Given the description of an element on the screen output the (x, y) to click on. 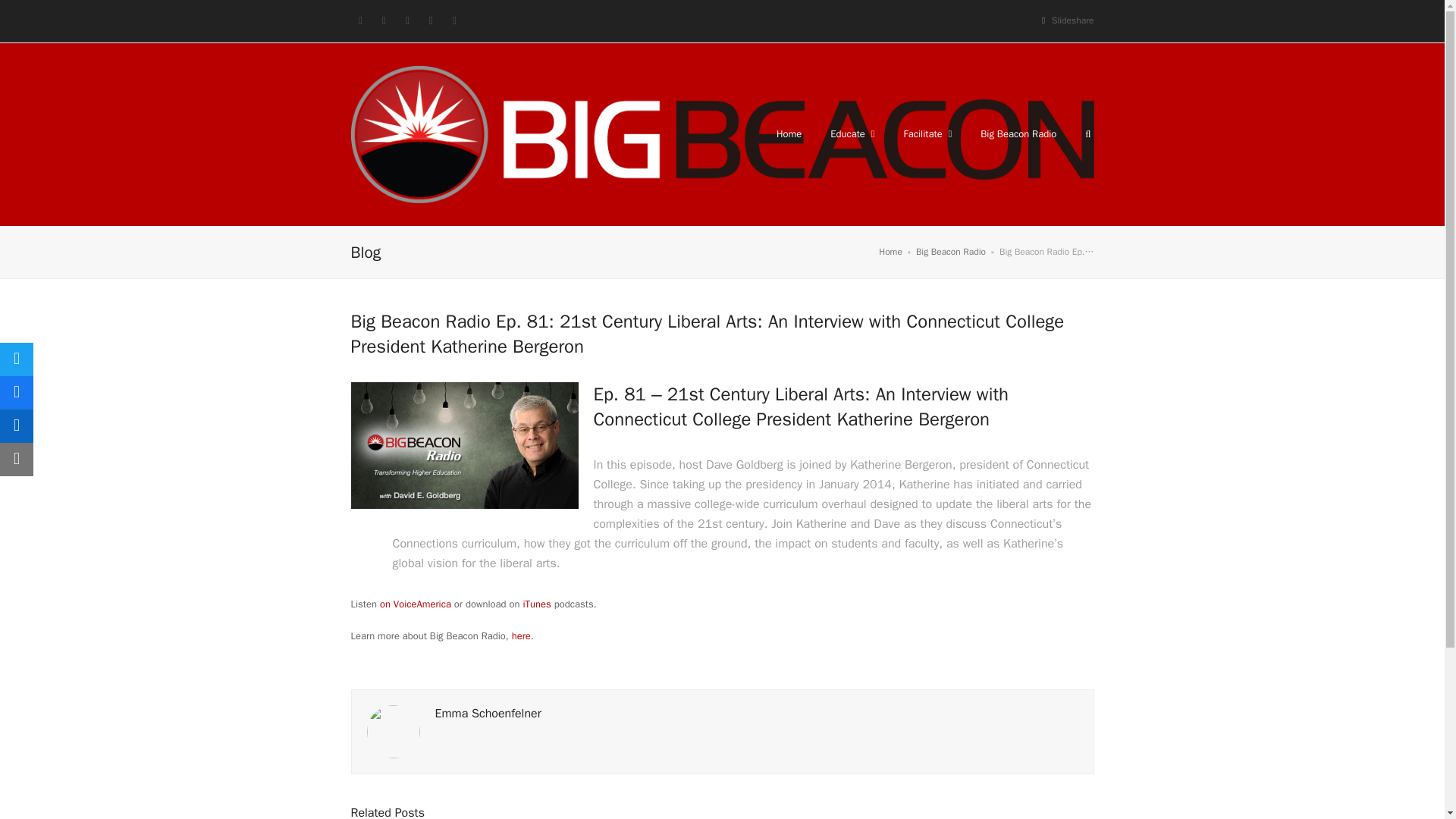
Home (788, 134)
Twitter (359, 21)
Share on LinkedIn (16, 426)
Emma Schoenfelner (488, 713)
Home (890, 251)
Facebook (384, 21)
Share on Twitter (16, 359)
on VoiceAmerica (415, 603)
iTunes (536, 603)
BigBeacon's SlideShare profile (1072, 20)
